Given the description of an element on the screen output the (x, y) to click on. 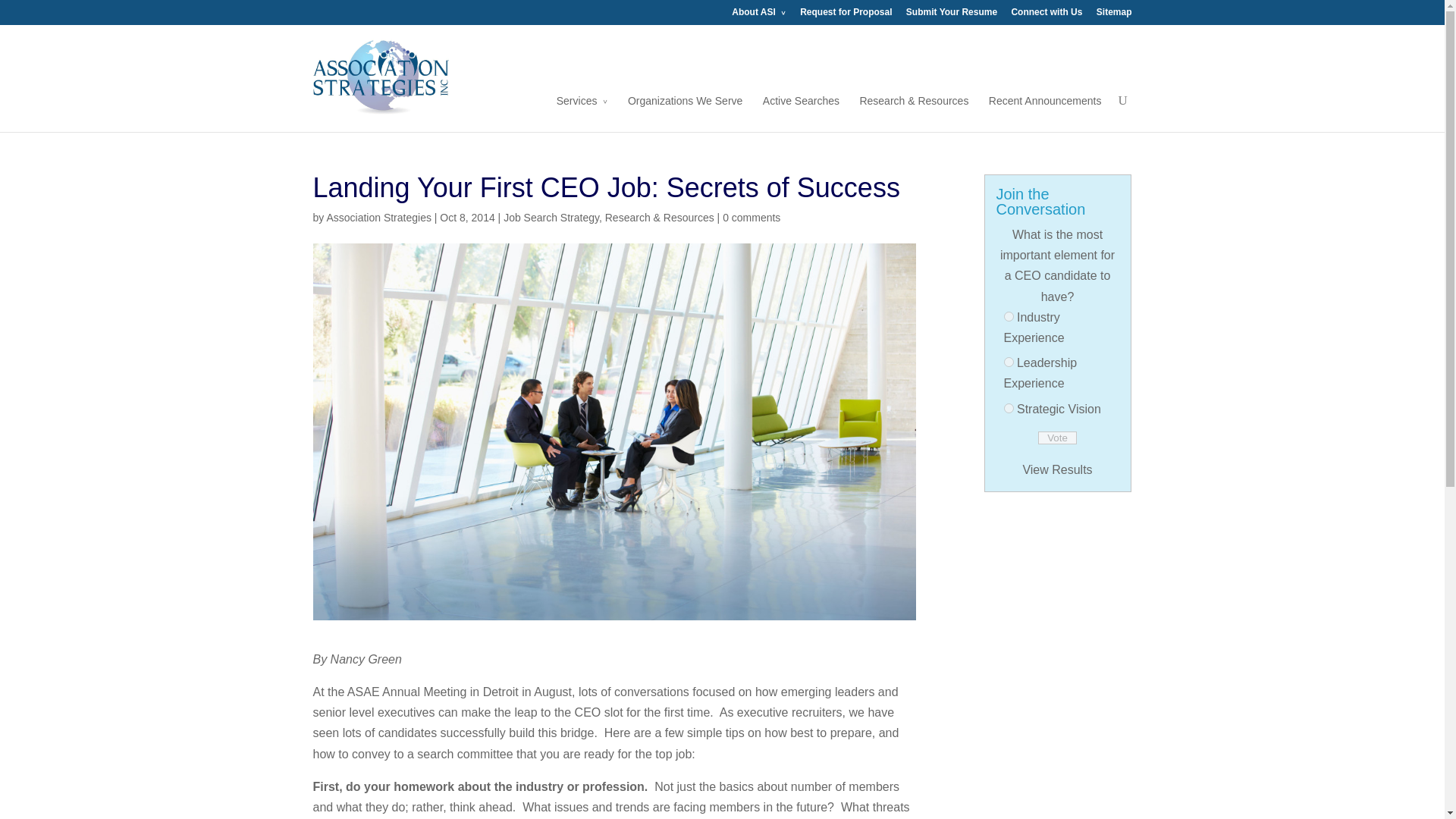
   Vote    (1057, 437)
About ASI (759, 16)
View Results Of This Poll (1057, 469)
Request for Proposal (845, 16)
Services (582, 111)
Organizations We Serve (684, 111)
Connect with Us (1045, 16)
2 (1008, 361)
1 (1008, 316)
3 (1008, 408)
